Given the description of an element on the screen output the (x, y) to click on. 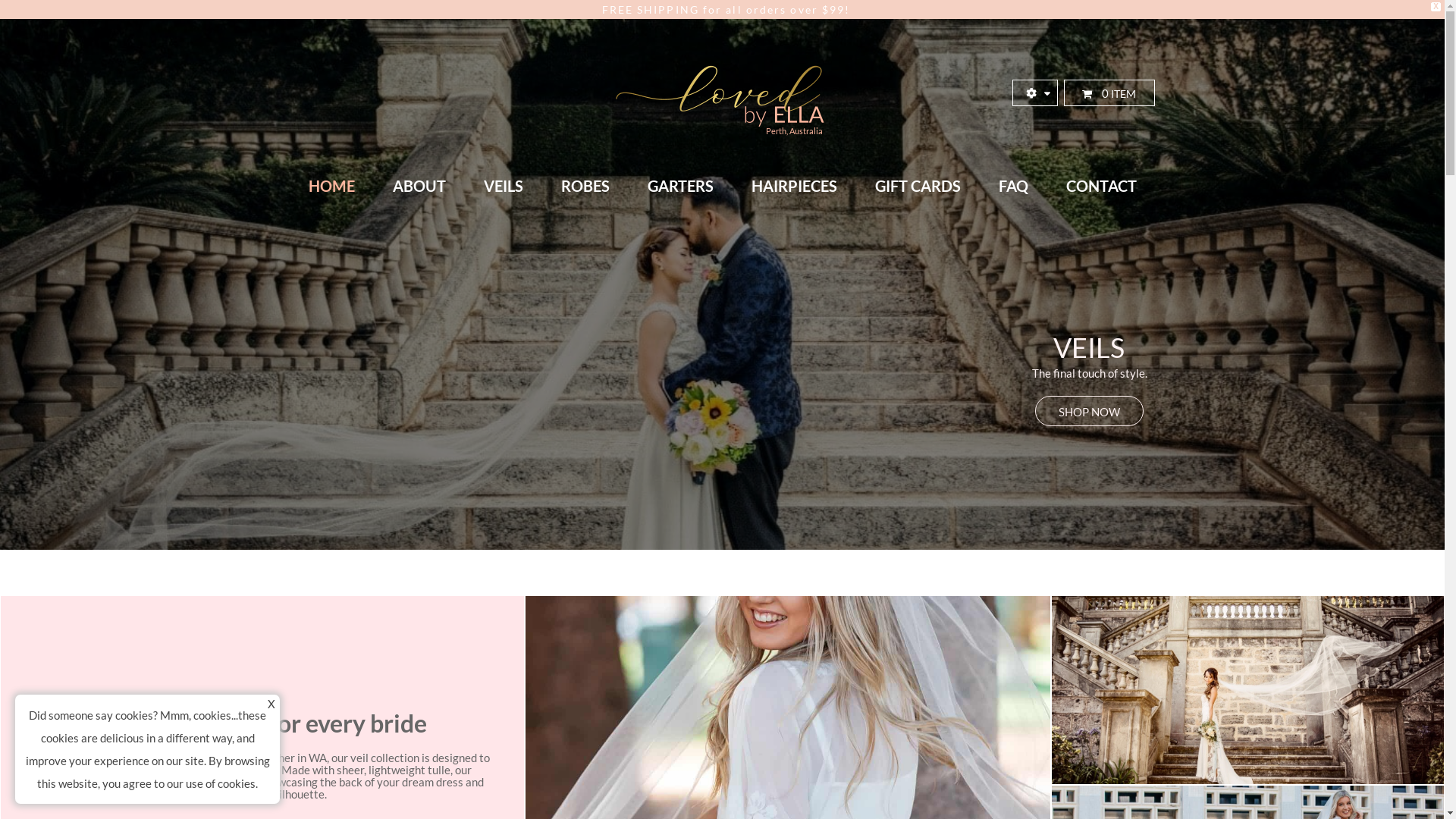
CONTACT Element type: text (1100, 185)
HAIRPIECES Element type: text (794, 185)
HOME Element type: text (331, 185)
ROBES Element type: text (584, 185)
X Element type: text (270, 703)
FAQ Element type: text (1013, 185)
0 ITEM Element type: text (1108, 93)
GARTERS Element type: text (679, 185)
VEILS Element type: text (502, 185)
lovedbyella Element type: hover (721, 92)
ABOUT Element type: text (418, 185)
GIFT CARDS Element type: text (917, 185)
SHOP NOW Element type: text (1088, 410)
Login Element type: text (967, 340)
